Given the description of an element on the screen output the (x, y) to click on. 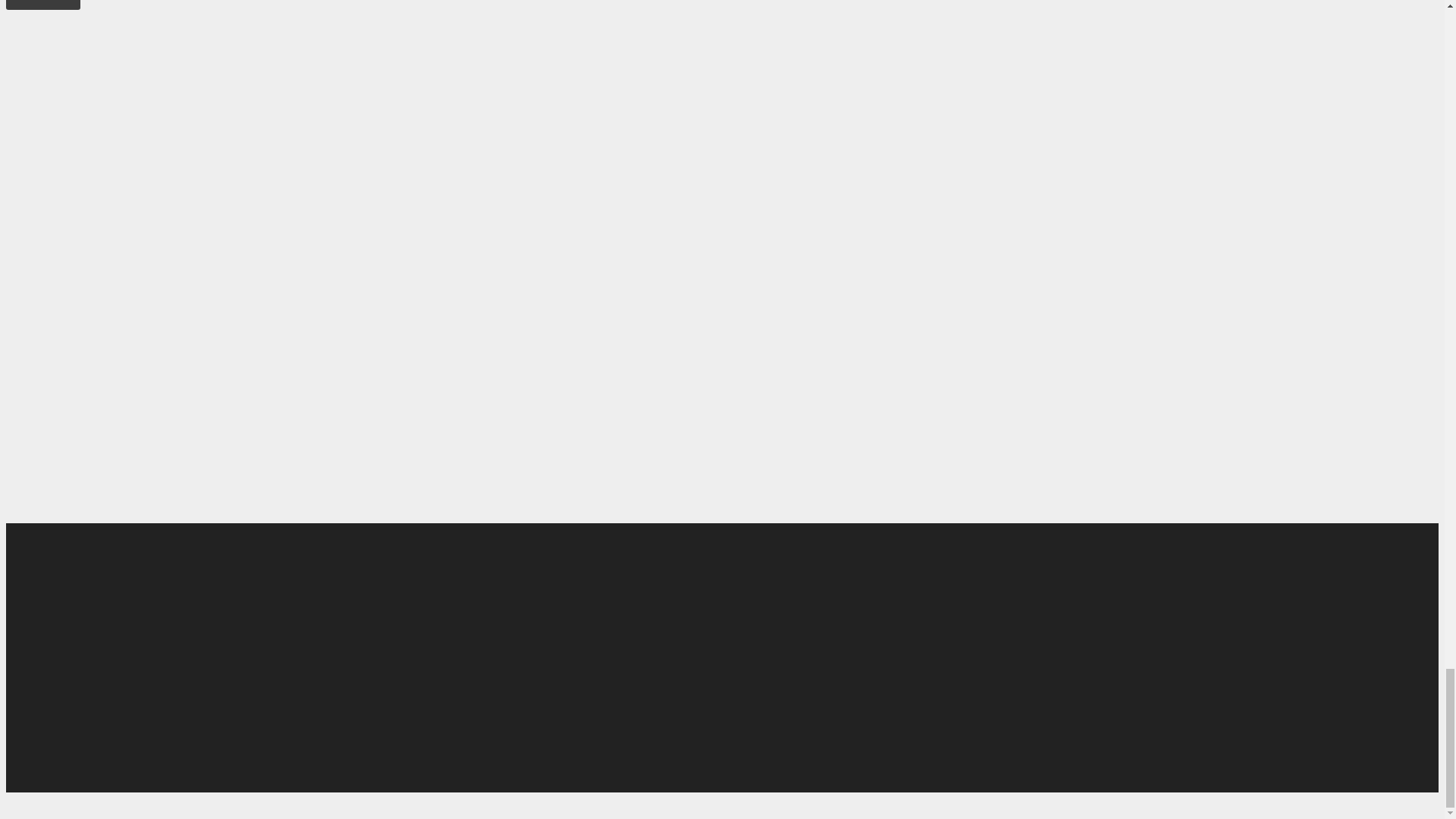
  UK PRODUCTION SERVICES (718, 41)
  LONDON FIXER (718, 241)
  UK CASTING (718, 208)
  UK FILM CREW (718, 141)
  UK LOCATION SCOUTS (718, 74)
  UK TRANSPORT AND ACCOMMODATION (718, 274)
  UK CAMERA AND EQUIPMENT HIRE (718, 174)
  UK FILMING PERMITS (718, 107)
subscribe (1206, 714)
